Given the description of an element on the screen output the (x, y) to click on. 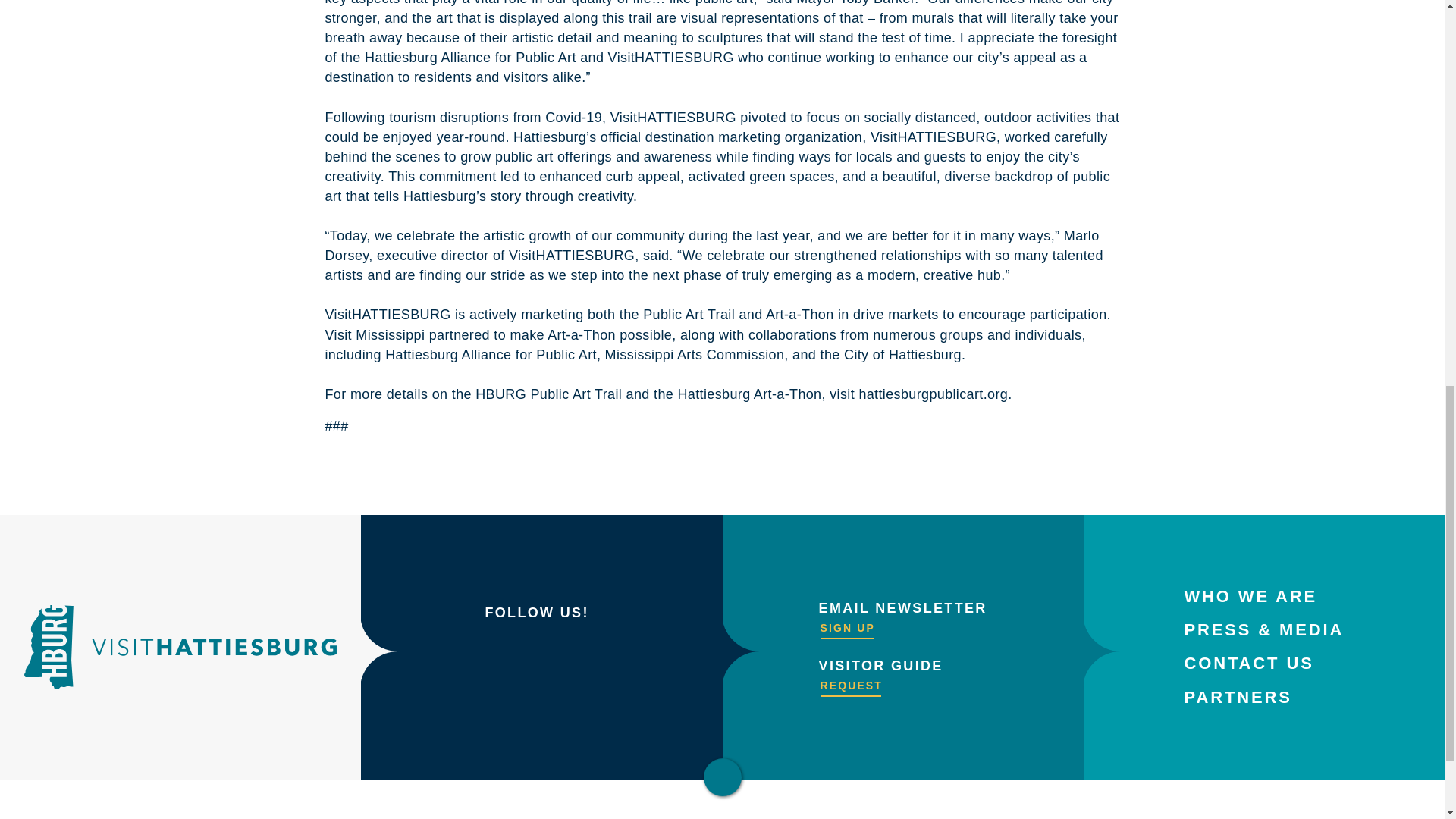
PARTNERS (1237, 696)
CONTACT US (1248, 662)
REQUEST (850, 685)
WHO WE ARE (1250, 596)
SIGN UP (847, 627)
